Given the description of an element on the screen output the (x, y) to click on. 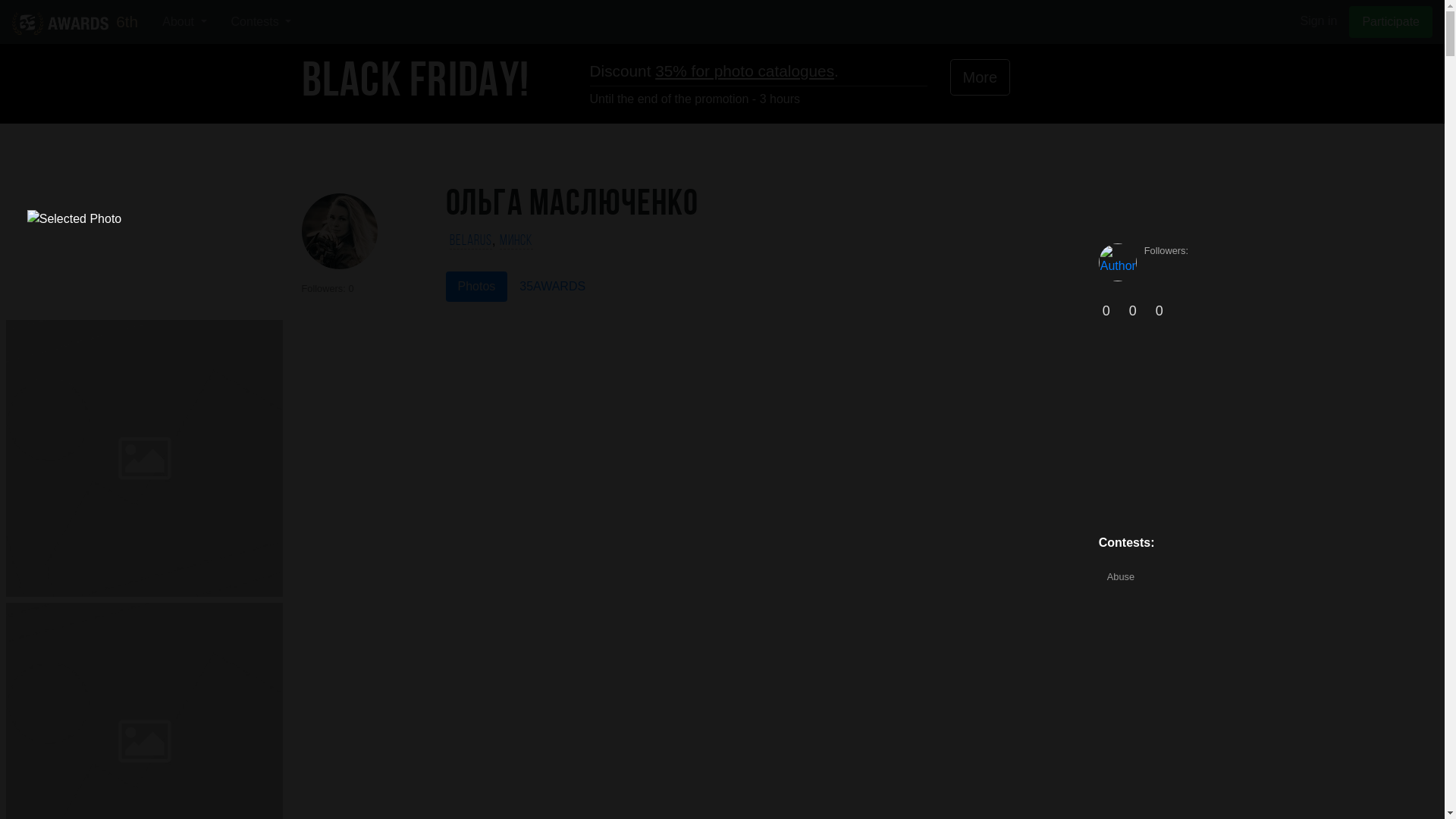
35AWARDS Element type: text (552, 286)
Photos Element type: text (476, 286)
Contests Element type: text (261, 21)
Sign in Element type: text (1318, 21)
6th Element type: text (75, 21)
About Element type: text (184, 21)
35% for photo catalogues Element type: text (744, 70)
Abuse Element type: text (1120, 576)
More Element type: text (979, 77)
Participate Element type: text (1390, 21)
Belarus Element type: text (470, 241)
